Given the description of an element on the screen output the (x, y) to click on. 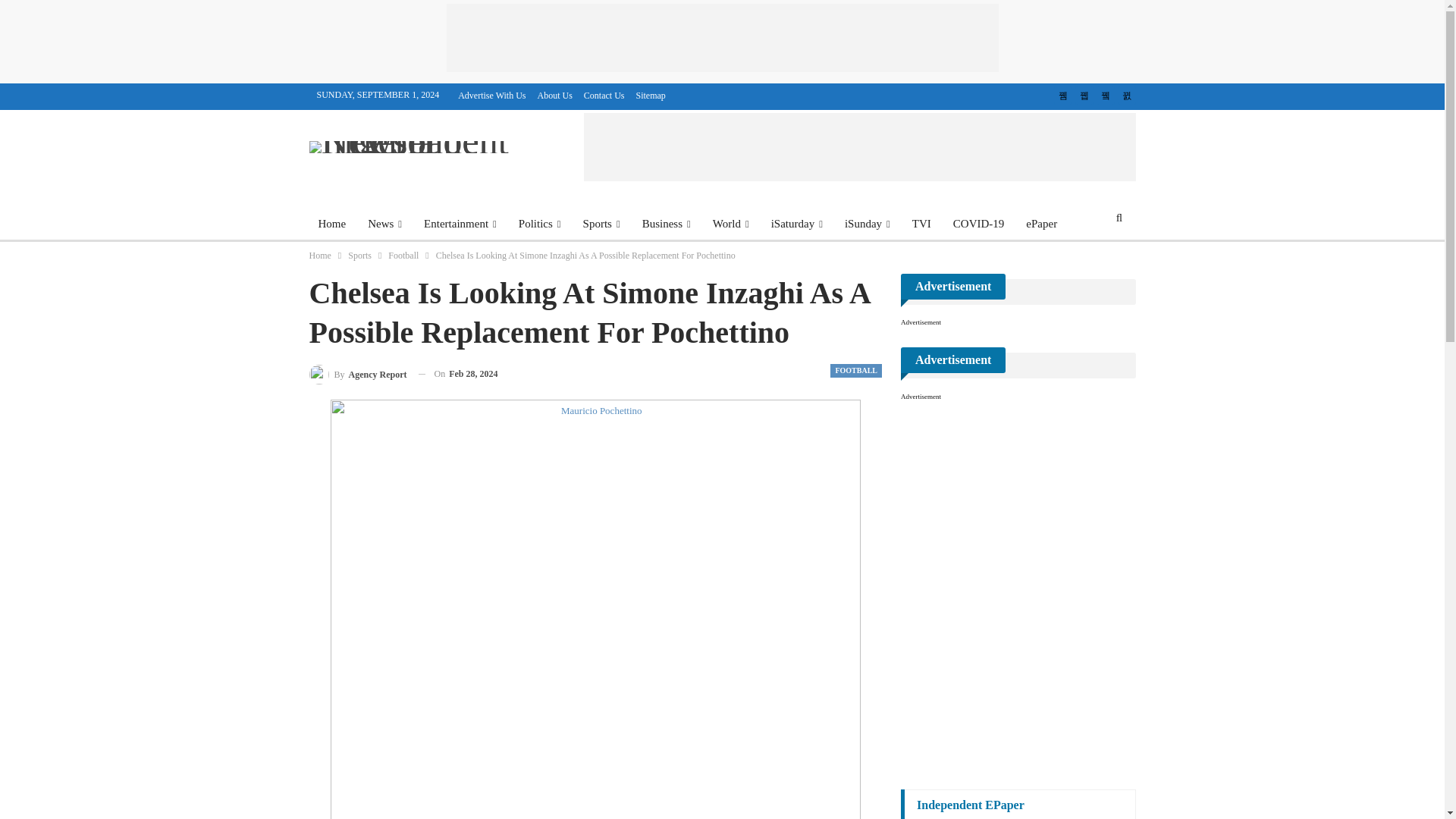
Advertise With Us (491, 95)
Politics (539, 223)
Sitemap (650, 95)
Entertainment (459, 223)
Contact Us (603, 95)
News (384, 223)
About Us (554, 95)
Home (331, 223)
